Given the description of an element on the screen output the (x, y) to click on. 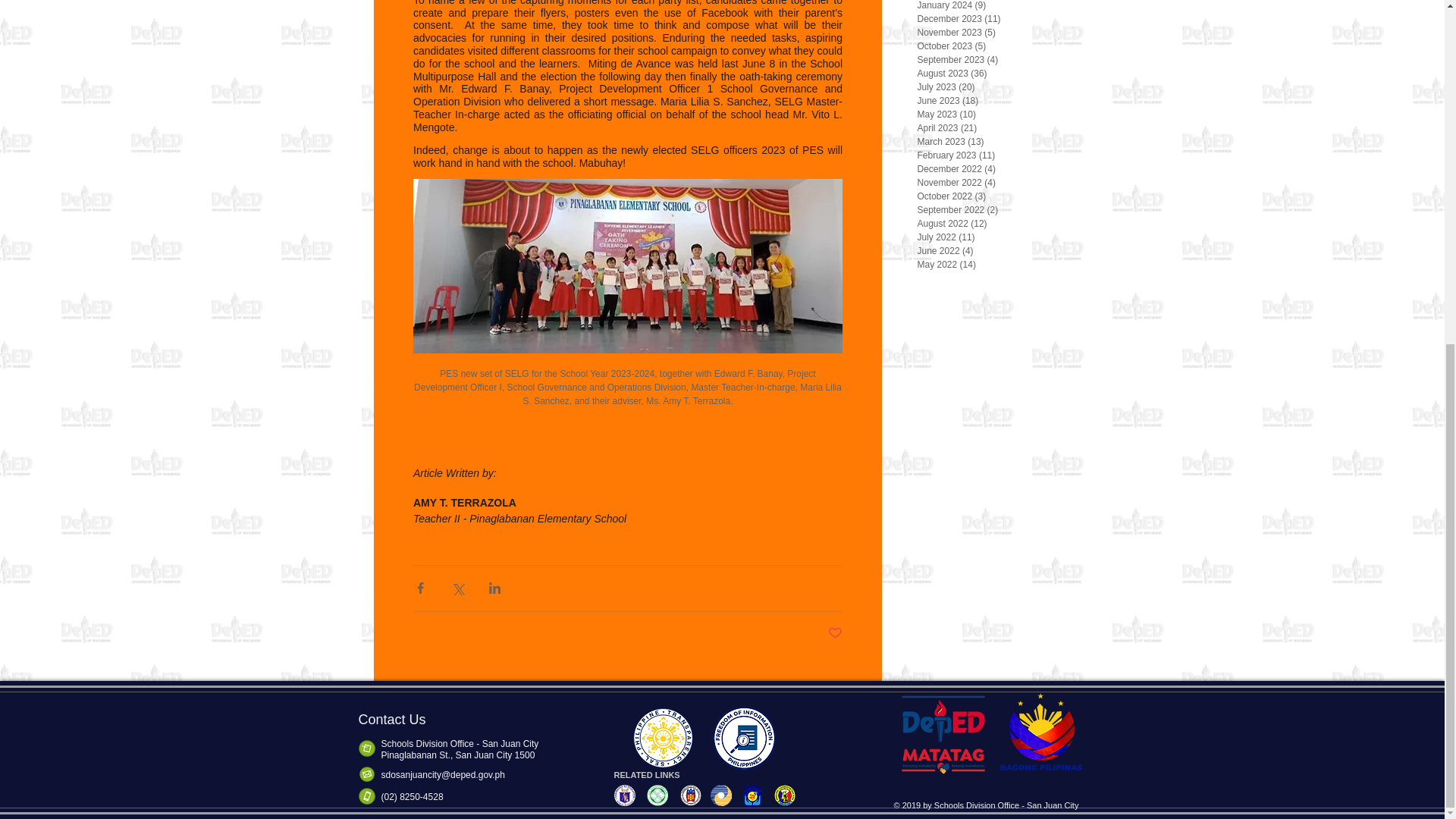
Department of Education (624, 794)
Commission on Audit (689, 794)
Government Service Insurance System (719, 794)
Facebook Like (988, 793)
Pagibig (751, 794)
Civil Service Commission (657, 794)
City of San Juan (783, 794)
Post not marked as liked (835, 633)
